Given the description of an element on the screen output the (x, y) to click on. 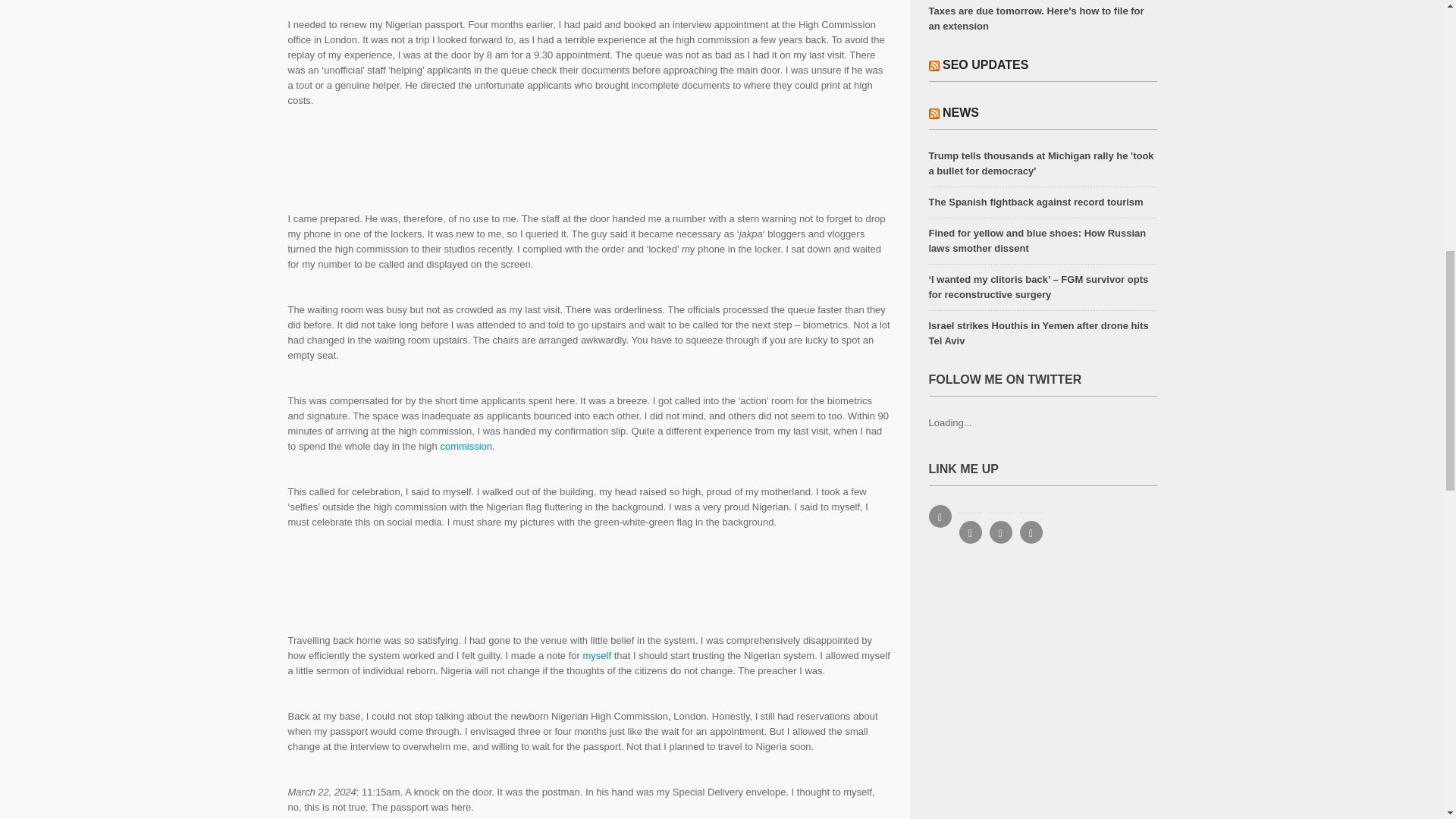
commission (465, 446)
myself (596, 655)
